Given the description of an element on the screen output the (x, y) to click on. 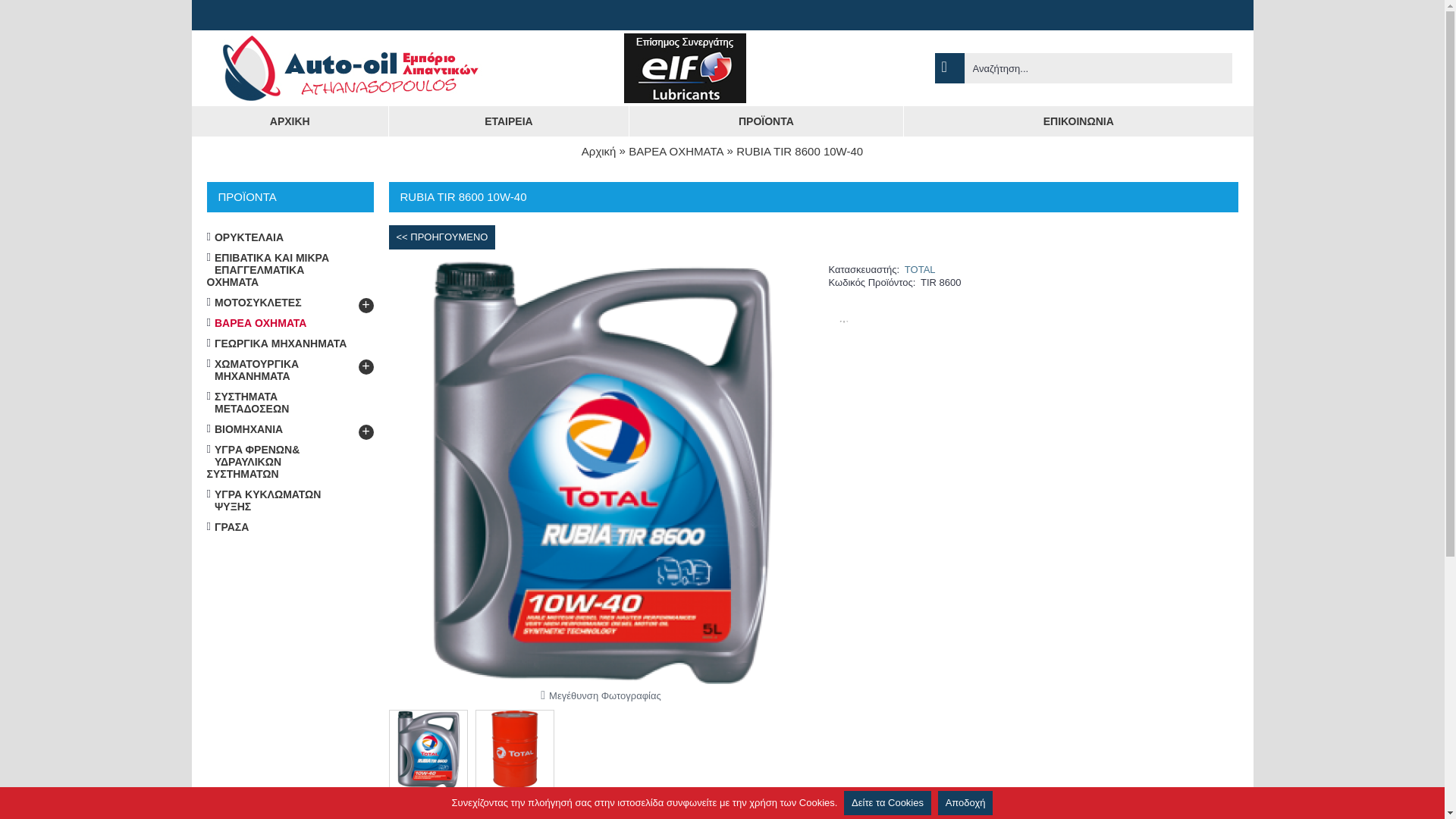
RUBIA TIR 8600 10W-40 (517, 744)
RUBIA TIR 8600 10W-40 (431, 744)
RUBIA TIR 8600 10W-40 (513, 749)
auto-oil.gr (350, 68)
RUBIA TIR 8600 10W-40 (427, 749)
RUBIA TIR 8600 10W-40 (799, 151)
